Given the description of an element on the screen output the (x, y) to click on. 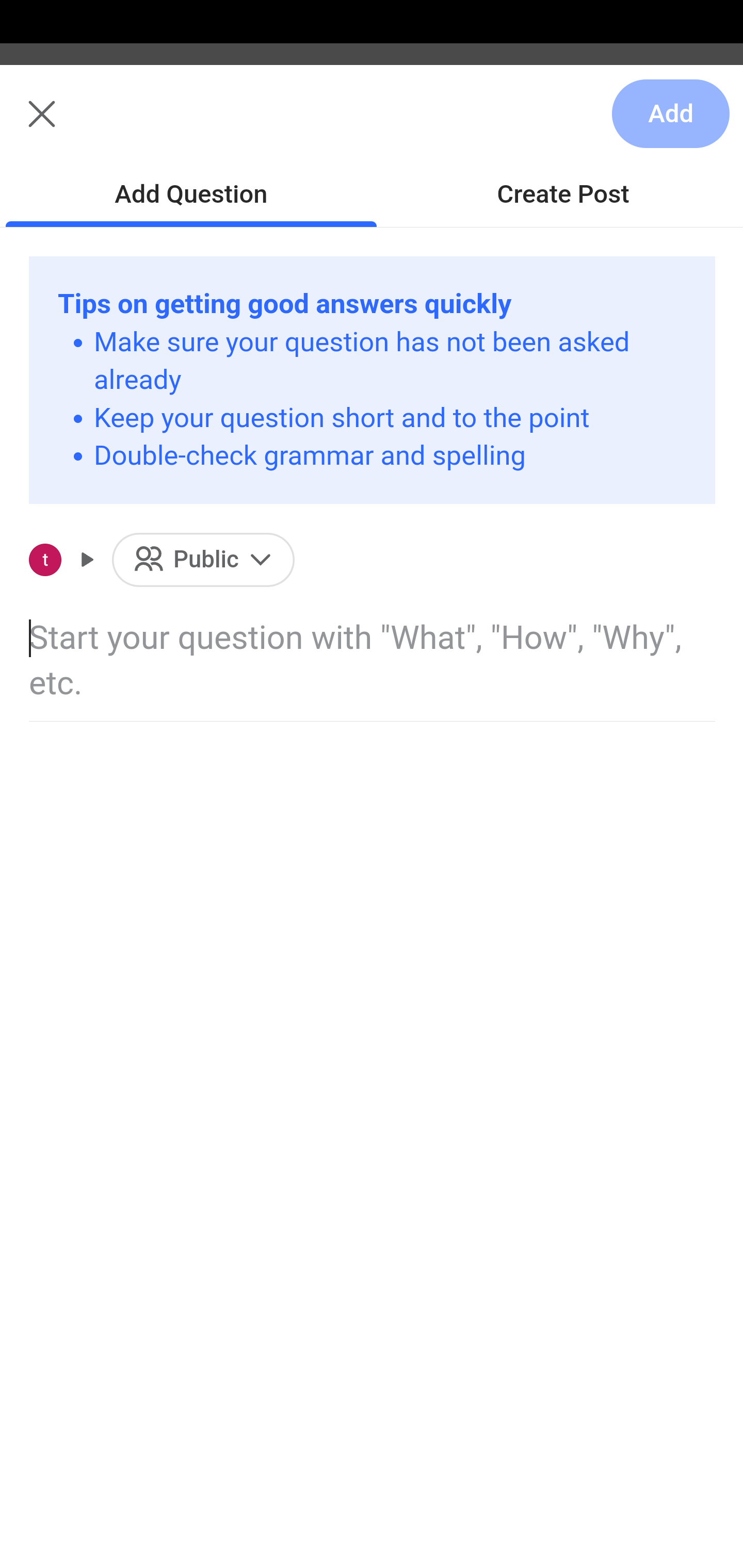
Me Home Search Add (371, 125)
Me (64, 125)
